Given the description of an element on the screen output the (x, y) to click on. 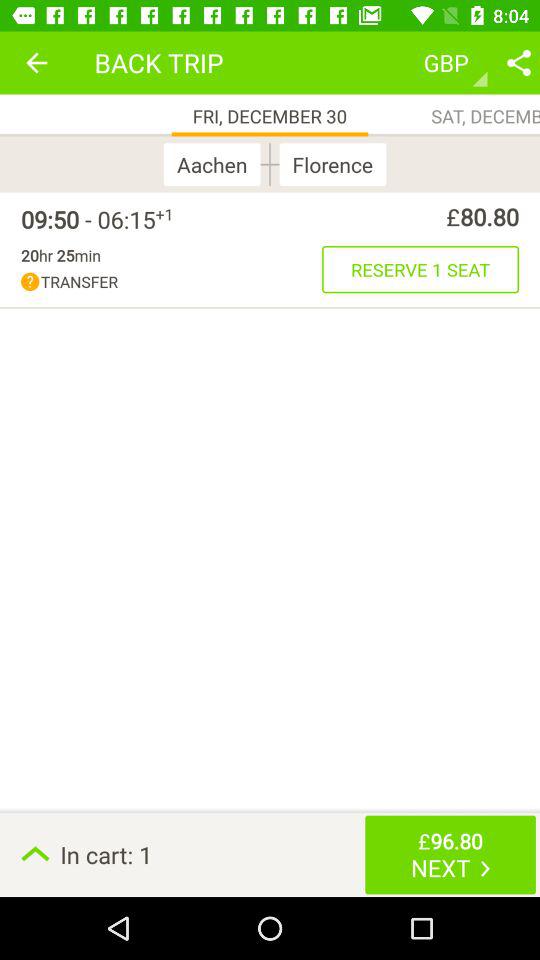
share on some other platform/app (519, 62)
